Given the description of an element on the screen output the (x, y) to click on. 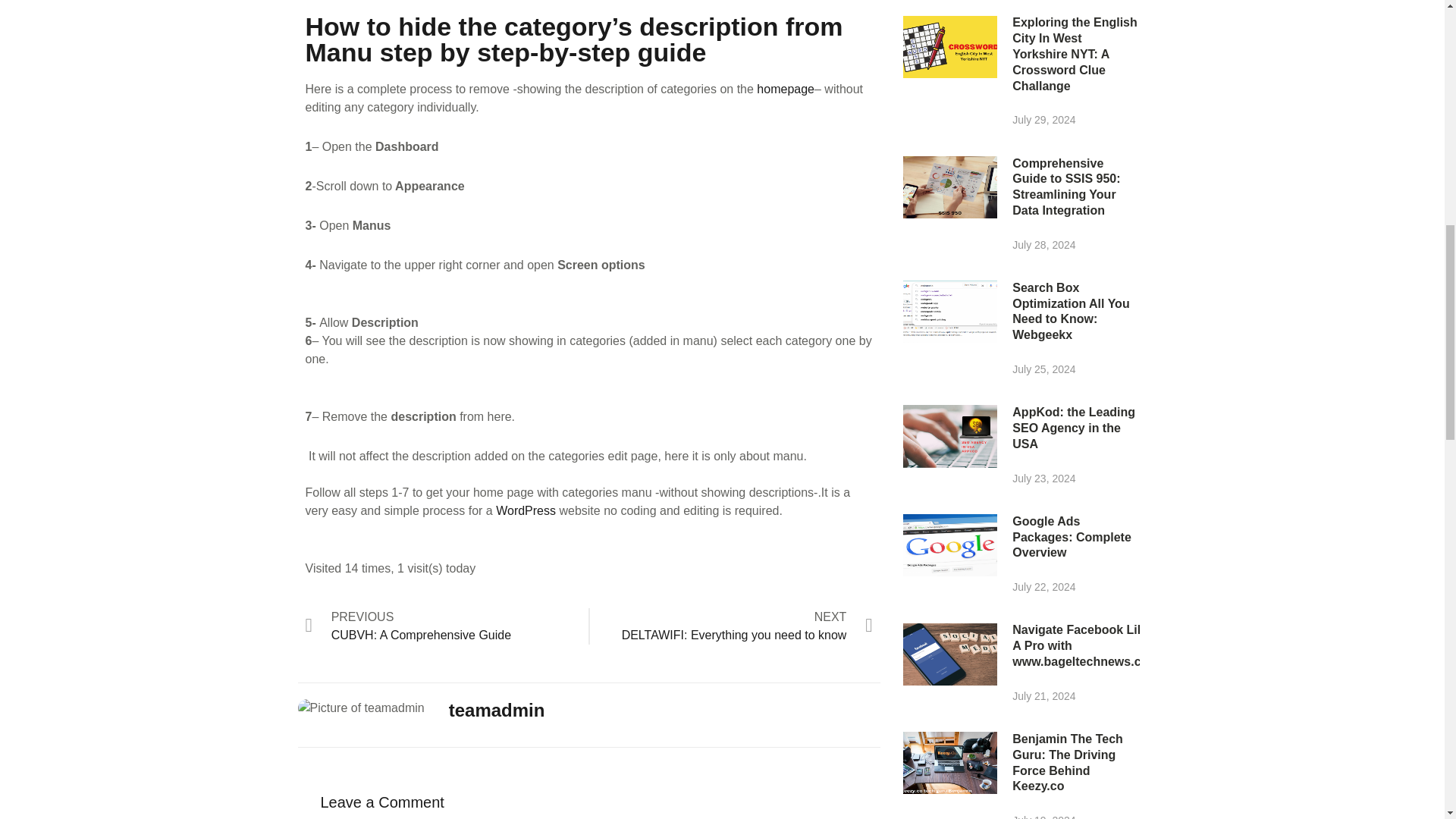
WordPress (527, 510)
homepage (446, 626)
